Given the description of an element on the screen output the (x, y) to click on. 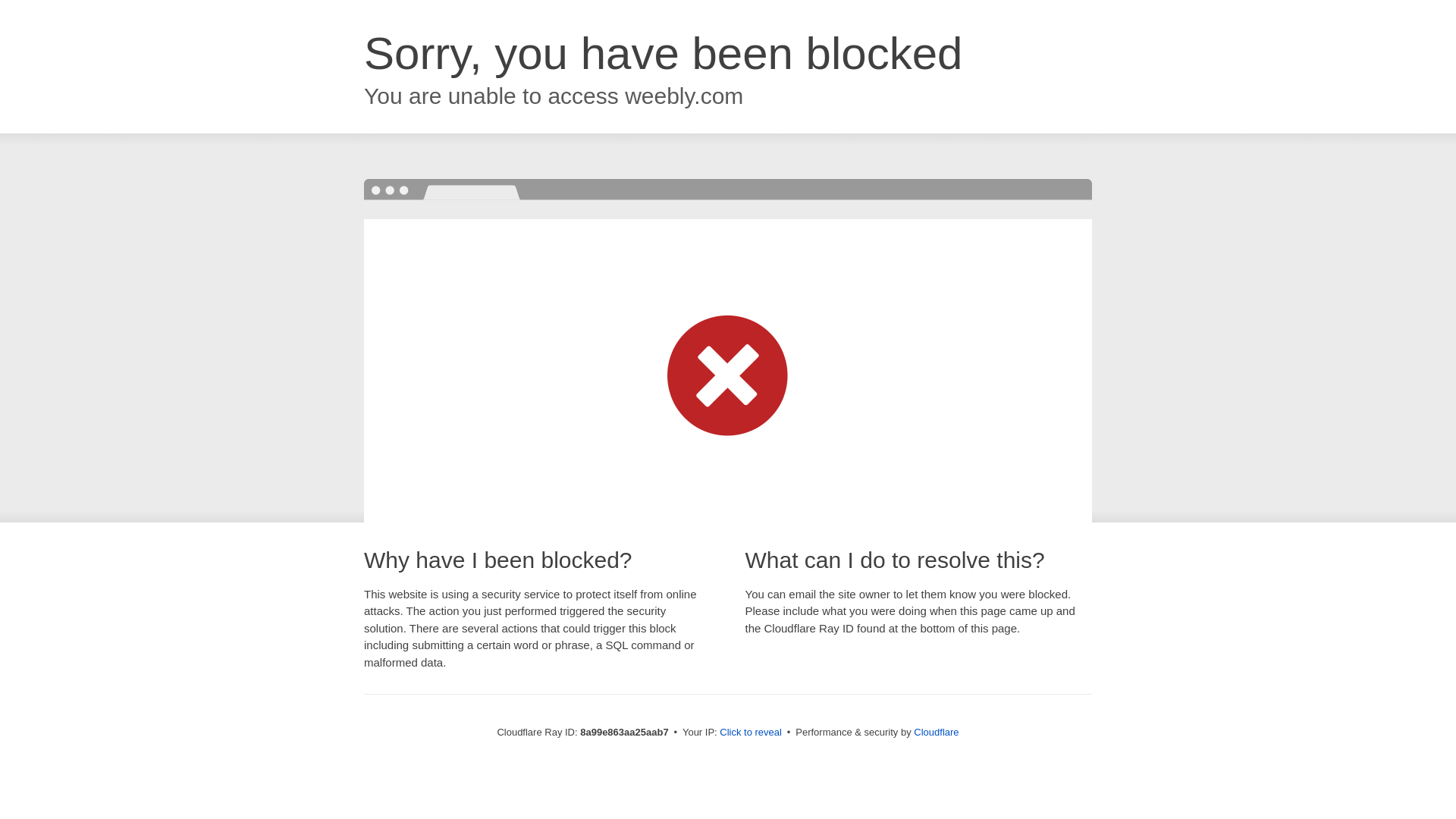
Click to reveal (750, 732)
Cloudflare (936, 731)
